Given the description of an element on the screen output the (x, y) to click on. 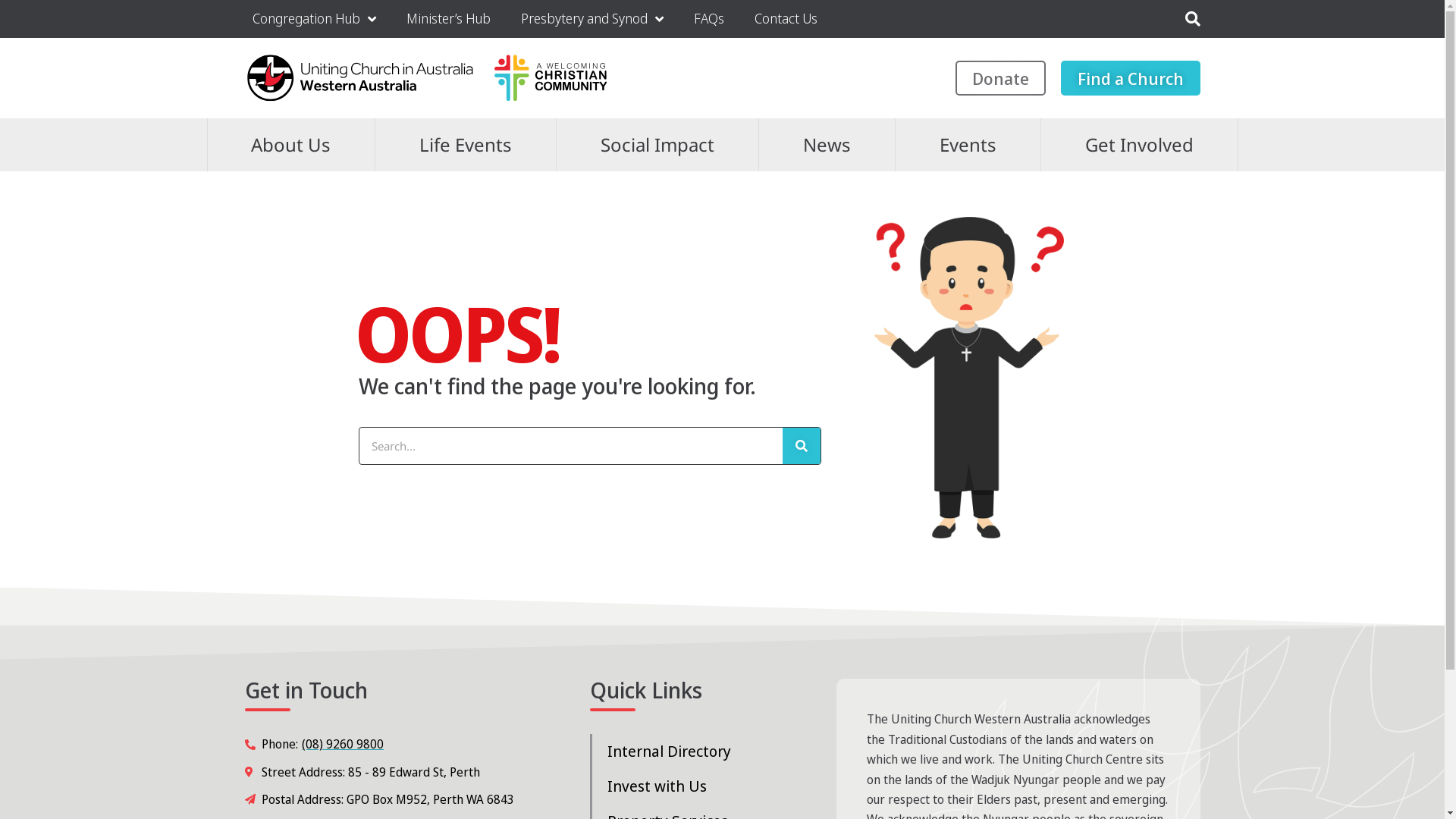
Invest with Us Element type: text (698, 785)
News Element type: text (826, 144)
(08) 9260 9800 Element type: text (342, 743)
Social Impact Element type: text (657, 144)
FAQs Element type: text (708, 18)
Get Involved Element type: text (1139, 144)
Find a Church Element type: text (1129, 77)
Congregation Hub Element type: text (313, 18)
Internal Directory Element type: text (698, 751)
Life Events Element type: text (465, 144)
Donate Element type: text (1000, 77)
About Us Element type: text (291, 144)
Presbytery and Synod Element type: text (591, 18)
Contact Us Element type: text (785, 18)
Events Element type: text (967, 144)
